Given the description of an element on the screen output the (x, y) to click on. 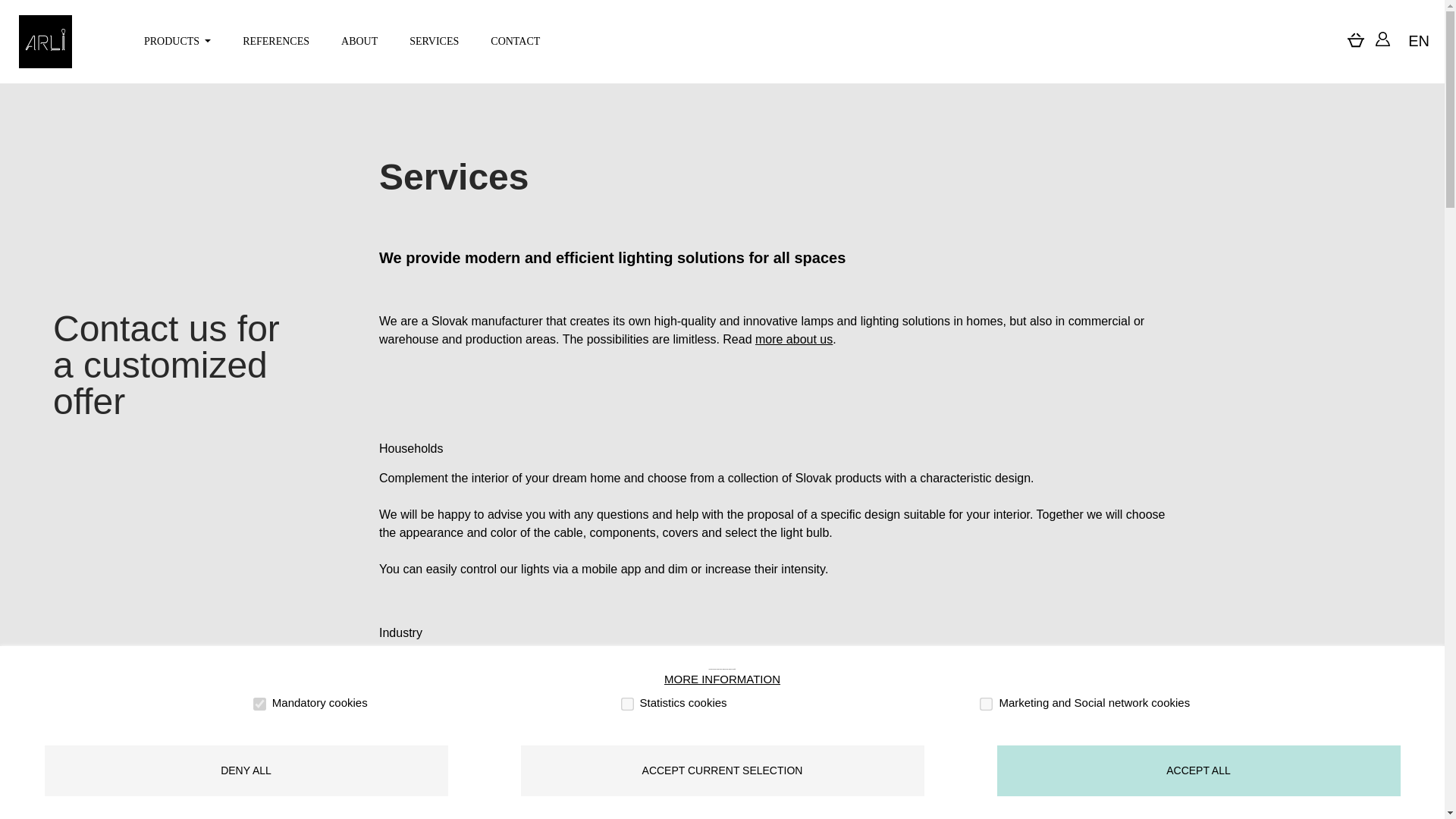
CONTACT (515, 40)
on (258, 702)
on (625, 702)
REFERENCES (276, 40)
more about us (793, 338)
SERVICES (435, 40)
ABOUT (360, 40)
on (984, 702)
PRODUCTS (177, 40)
